Given the description of an element on the screen output the (x, y) to click on. 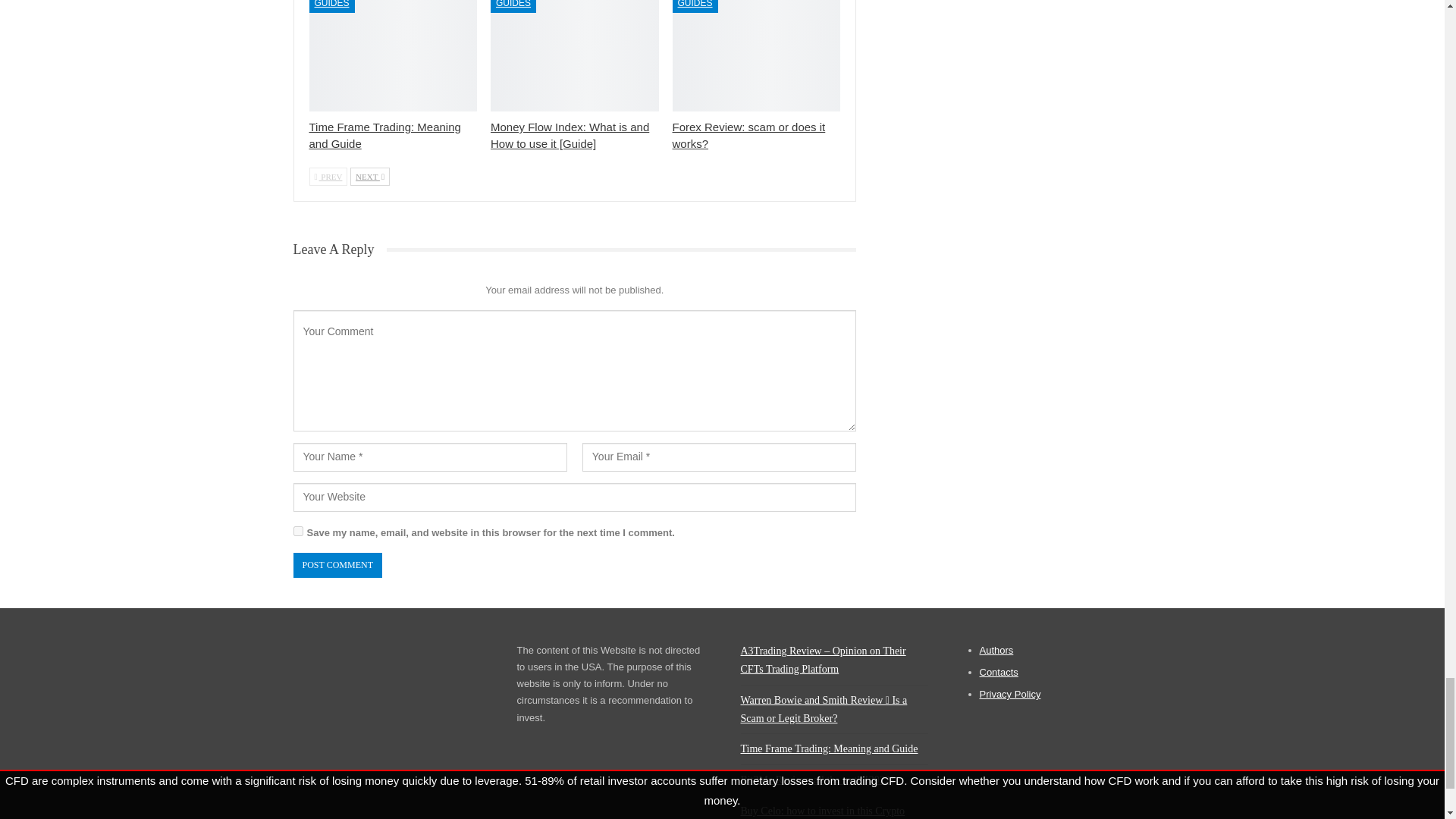
Post Comment (336, 565)
yes (297, 531)
